Given the description of an element on the screen output the (x, y) to click on. 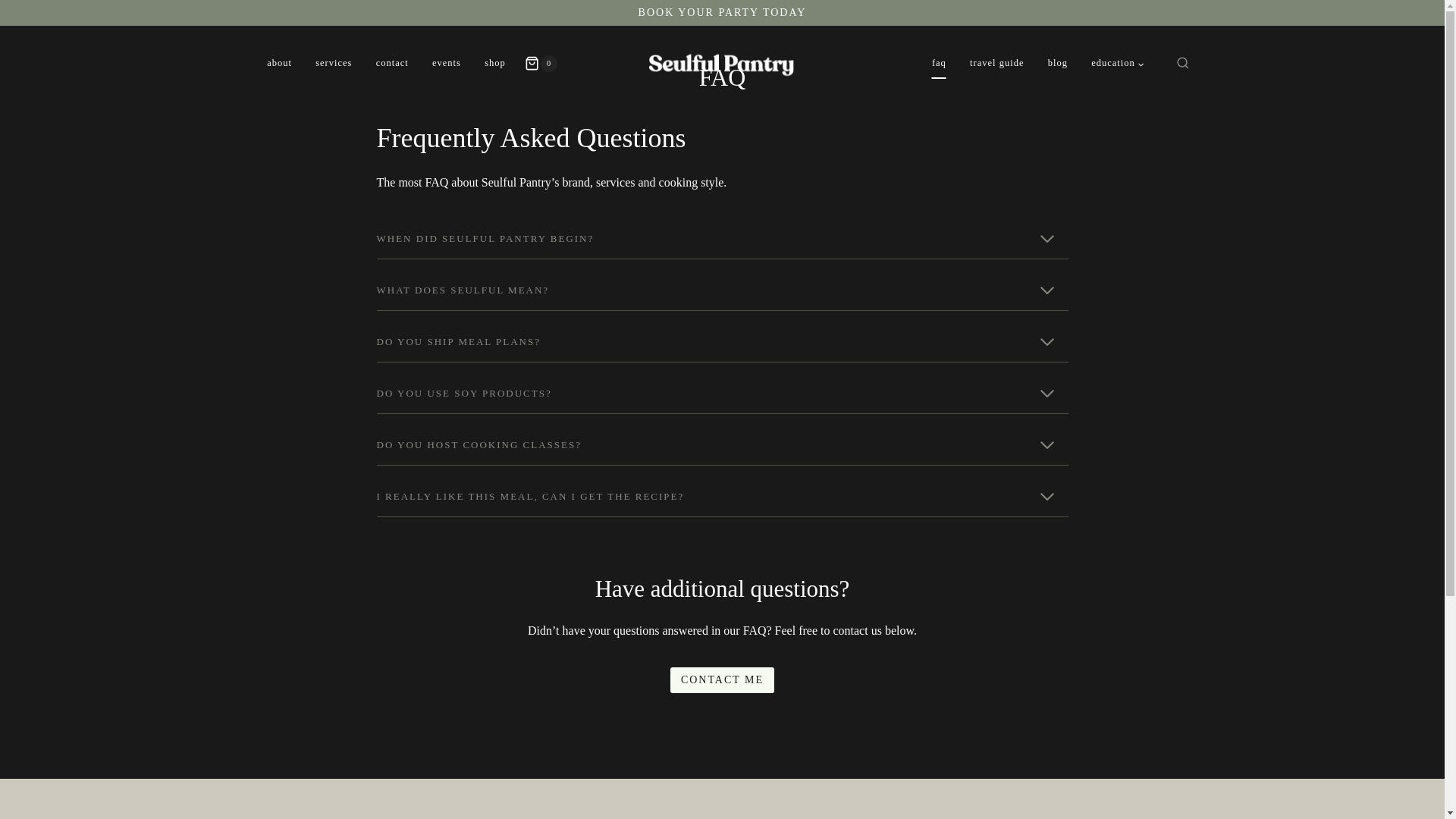
contact (392, 63)
DO YOU HOST COOKING CLASSES? (721, 445)
DO YOU SHIP MEAL PLANS? (721, 342)
faq (939, 63)
travel guide (996, 63)
WHEN DID SEULFUL PANTRY BEGIN? (721, 239)
blog (1056, 63)
BOOK YOUR PARTY TODAY (721, 12)
DO YOU USE SOY PRODUCTS? (721, 393)
WHAT DOES SEULFUL MEAN? (721, 291)
about (278, 63)
CONTACT ME (721, 679)
I REALLY LIKE THIS MEAL, CAN I GET THE RECIPE? (721, 496)
education (1118, 63)
services (334, 63)
